Given the description of an element on the screen output the (x, y) to click on. 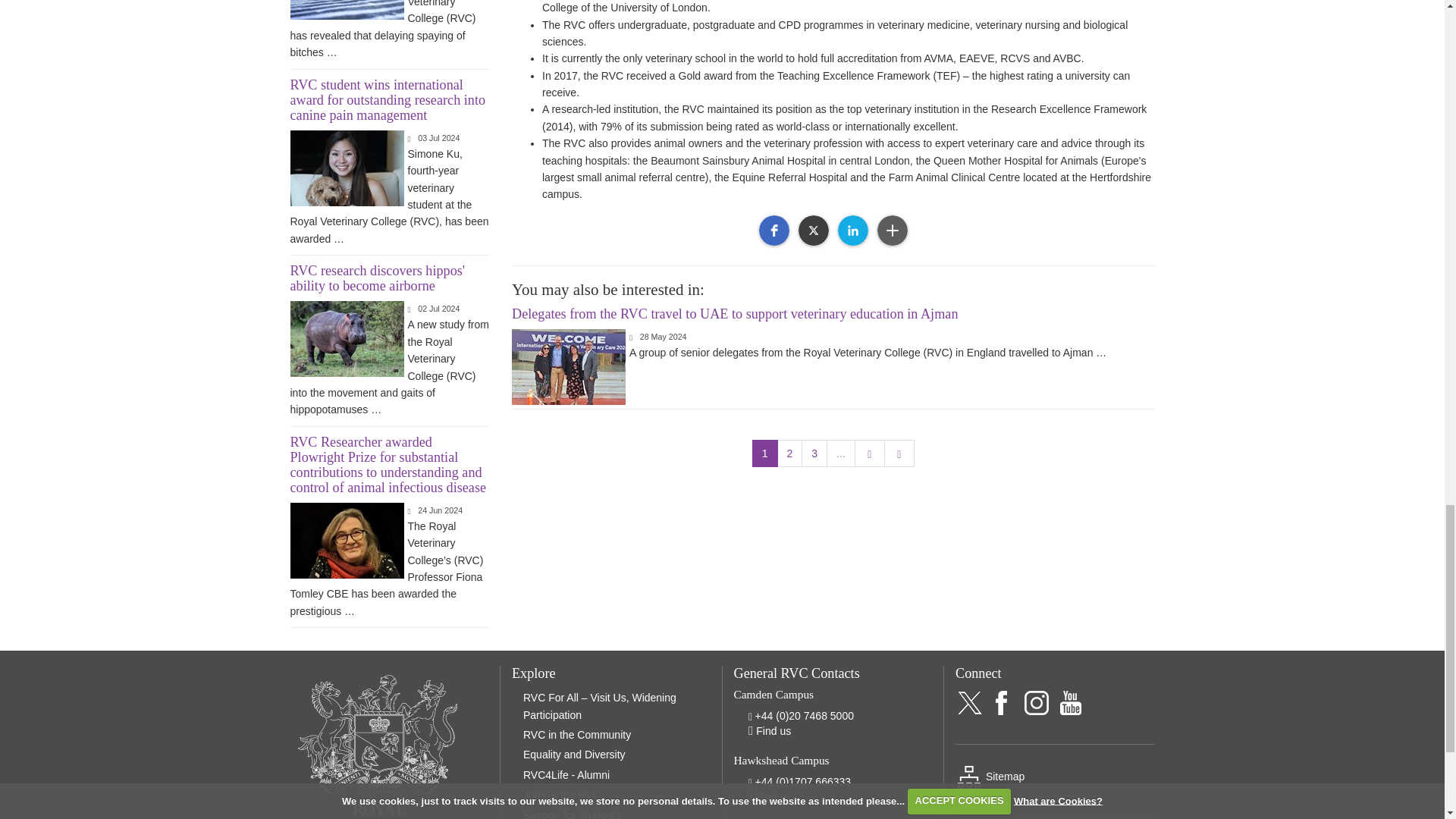
LinkedIn (852, 230)
... (841, 452)
Facebook (773, 230)
3 (814, 452)
Twitter (812, 230)
More (892, 230)
2 (790, 452)
1 (764, 452)
